Given the description of an element on the screen output the (x, y) to click on. 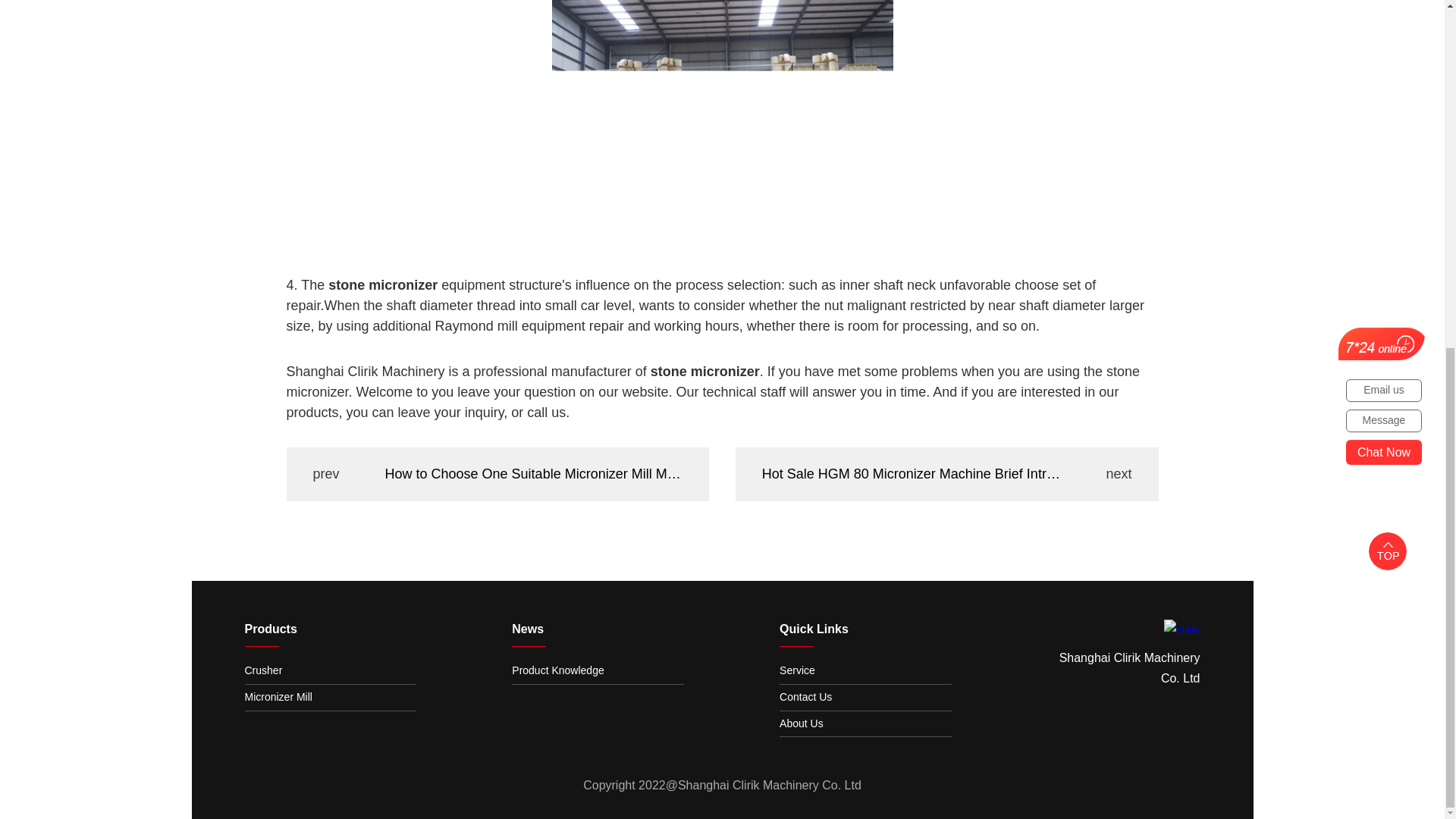
Hot Sale HGM 80 Micronizer Machine Brief Introduction (911, 474)
Contact Us (865, 697)
How to Choose One Suitable Micronizer Mill Manufacturer (533, 474)
Service (865, 670)
Micronizer Mill (330, 697)
Crusher (330, 670)
Product Knowledge (598, 670)
About Us (865, 723)
